Given the description of an element on the screen output the (x, y) to click on. 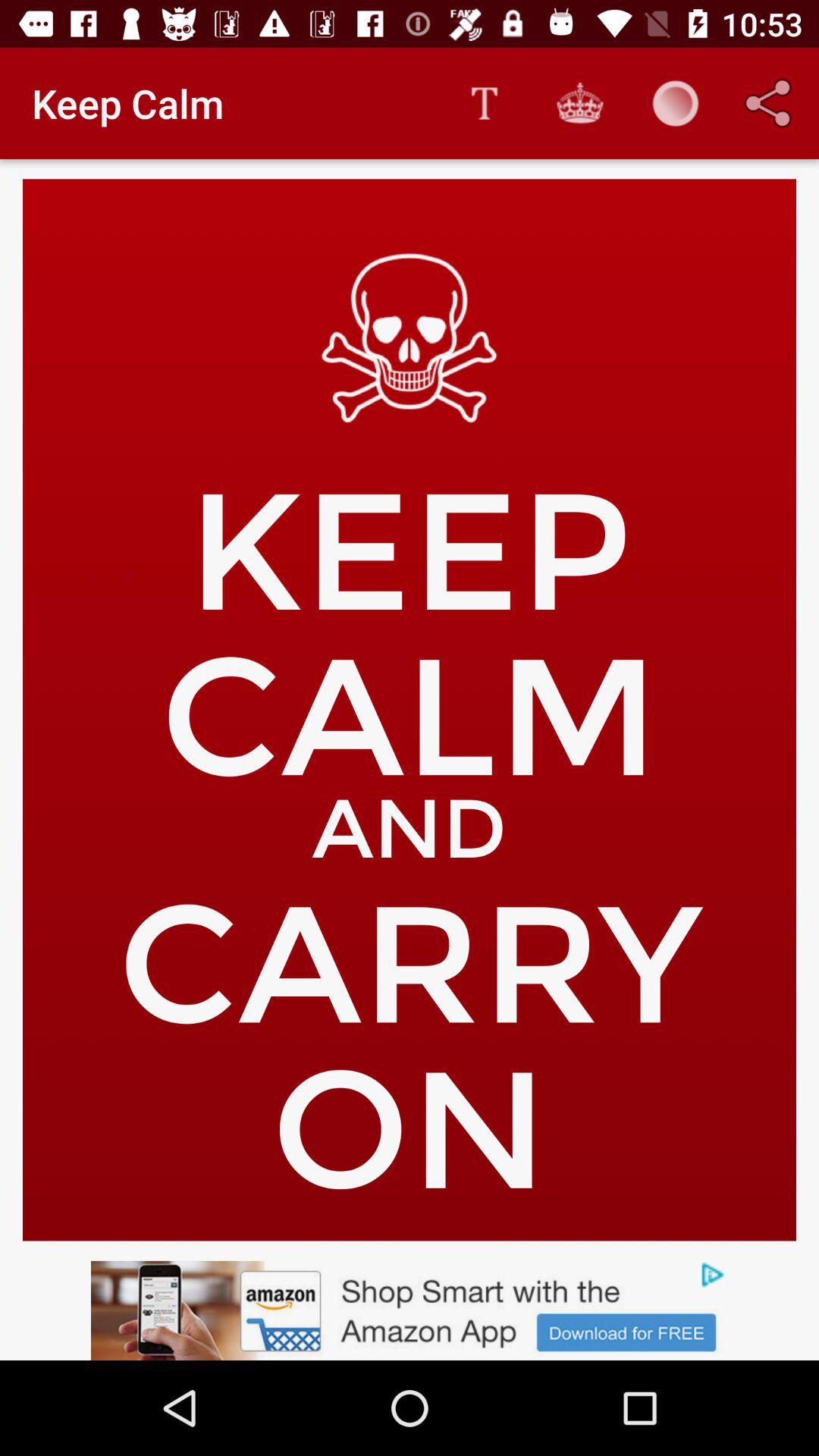
choose the app next to keep calm (484, 103)
